Given the description of an element on the screen output the (x, y) to click on. 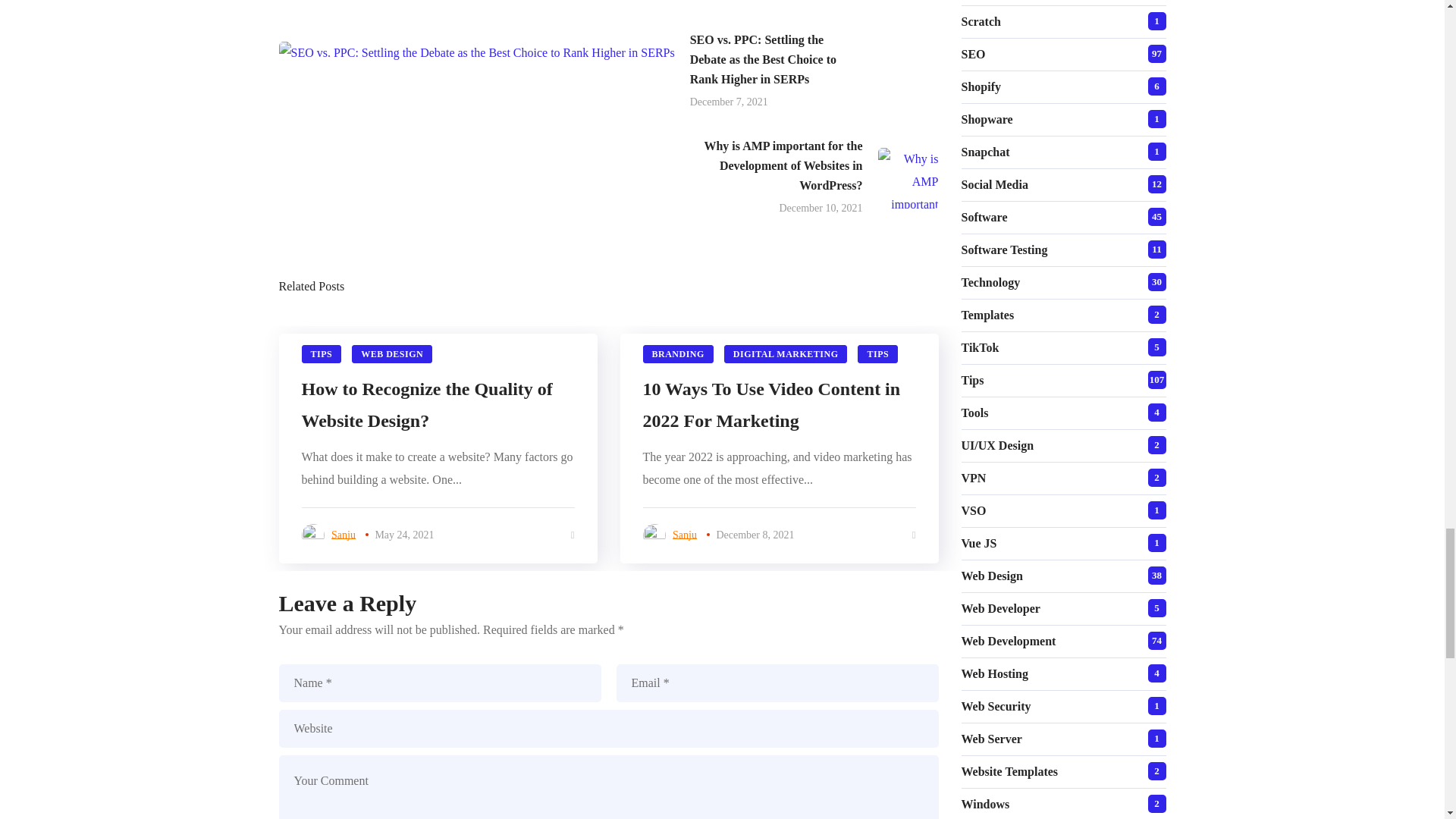
Website (609, 728)
